Given the description of an element on the screen output the (x, y) to click on. 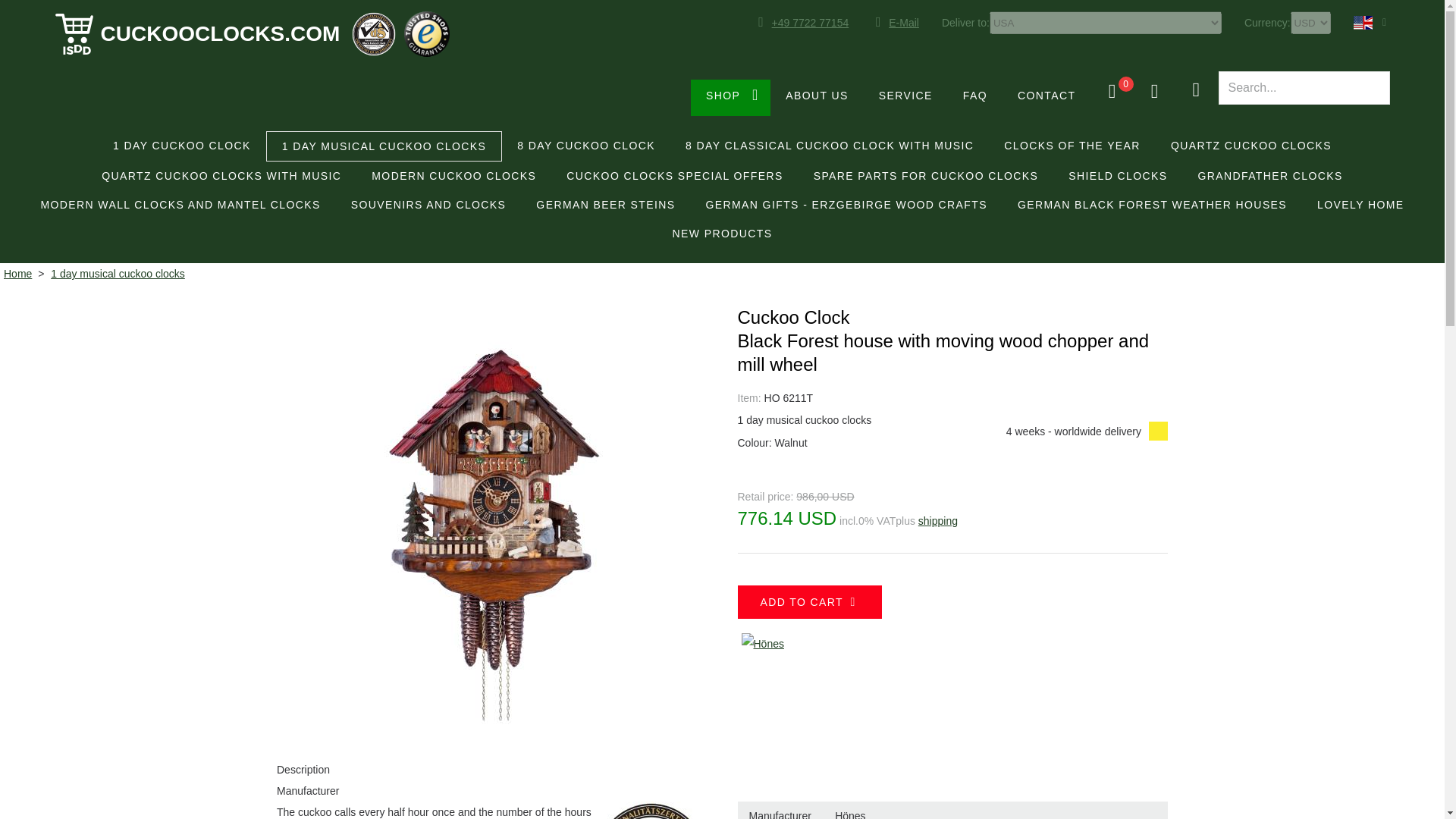
CUCKOOCLOCKS.COM (197, 34)
E-Mail (894, 22)
SHOP (730, 97)
